Given the description of an element on the screen output the (x, y) to click on. 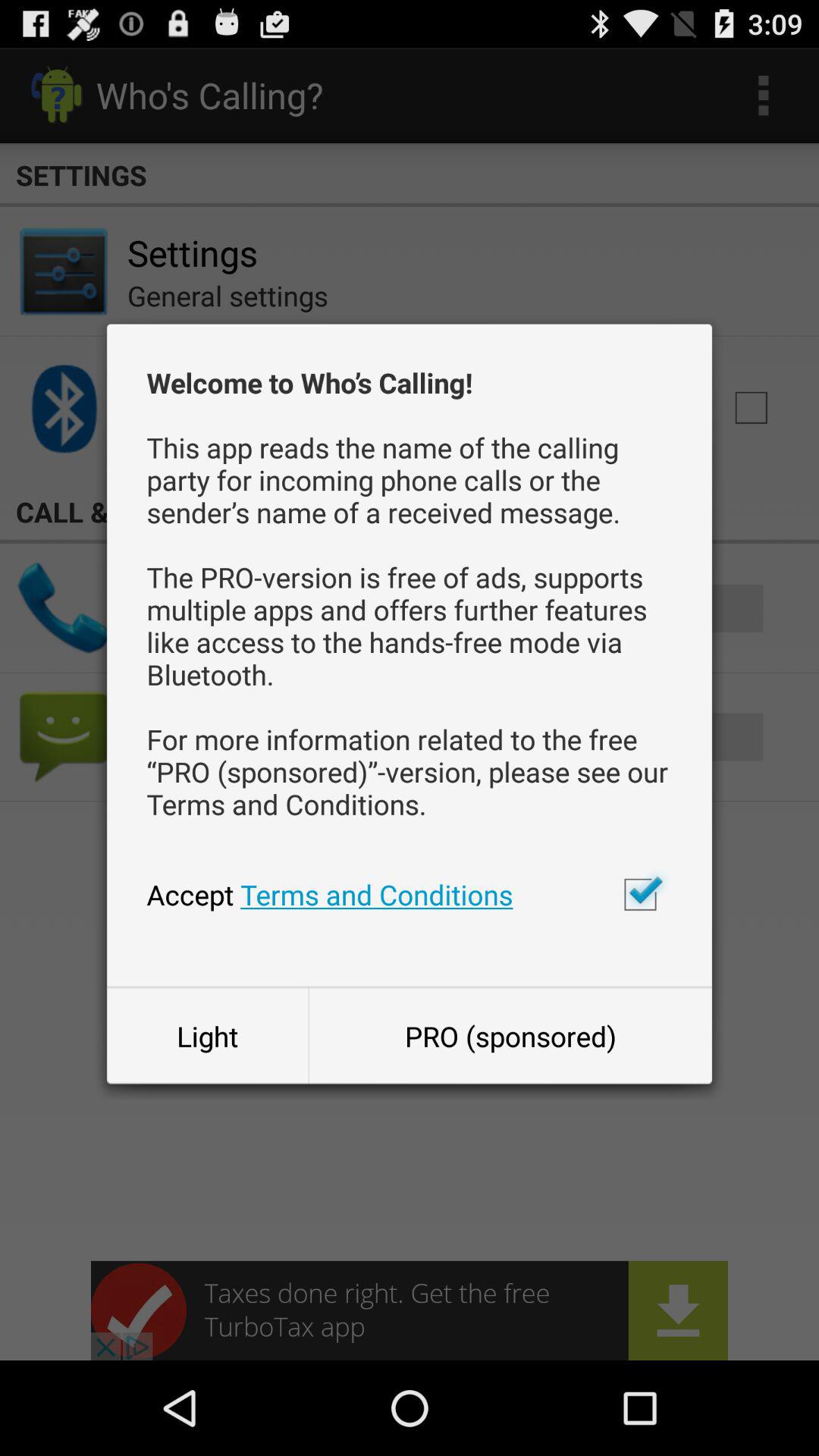
press button to the left of pro (sponsored) icon (207, 1036)
